Given the description of an element on the screen output the (x, y) to click on. 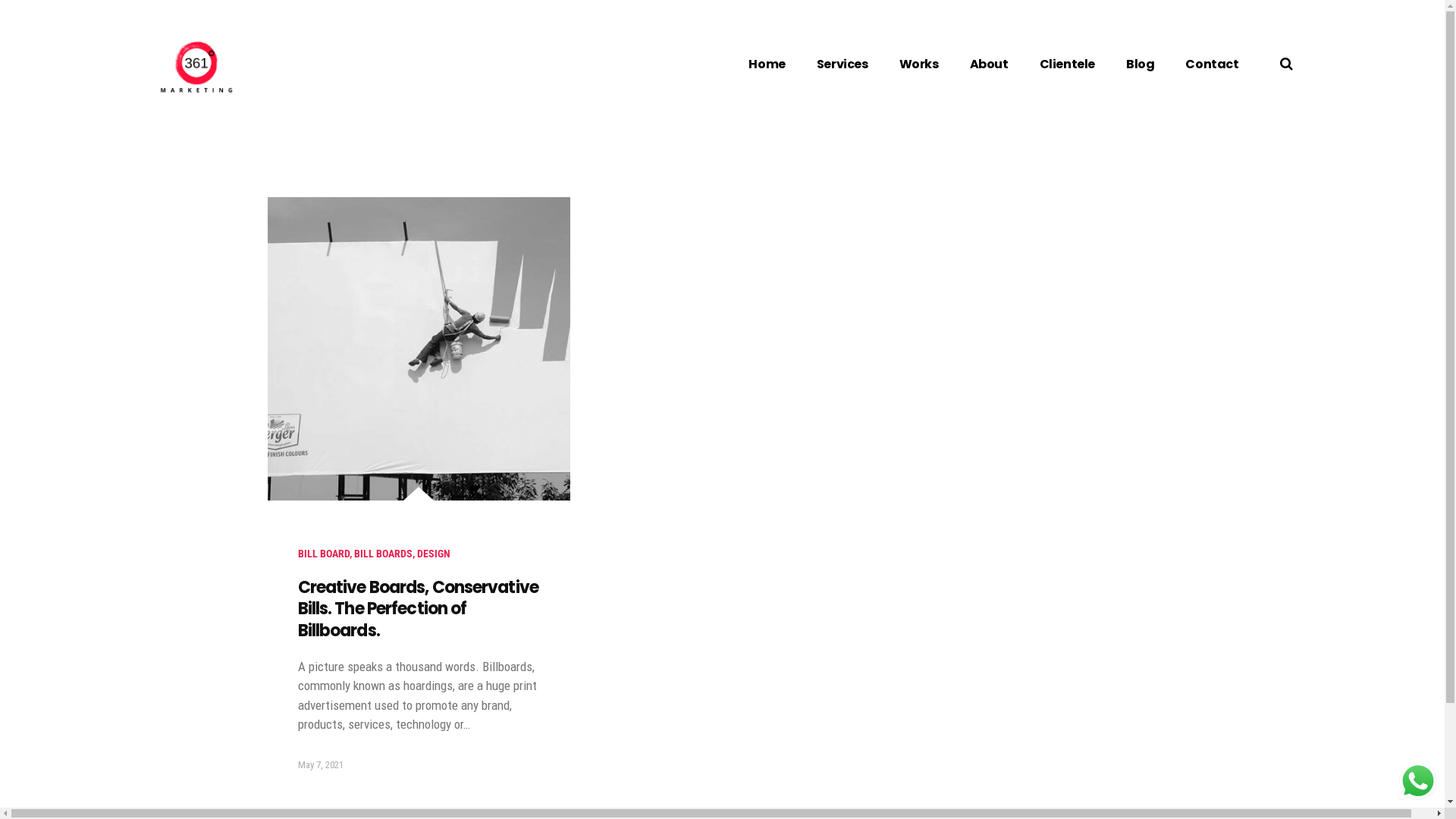
DESIGN Element type: text (433, 553)
About Element type: text (988, 64)
Clientele Element type: text (1067, 64)
Home Element type: text (766, 64)
Works Element type: text (918, 64)
Services Element type: text (842, 64)
Contact Element type: text (1211, 64)
Blog Element type: text (1140, 64)
BILL BOARD Element type: text (322, 553)
BILL BOARDS Element type: text (382, 553)
